Given the description of an element on the screen output the (x, y) to click on. 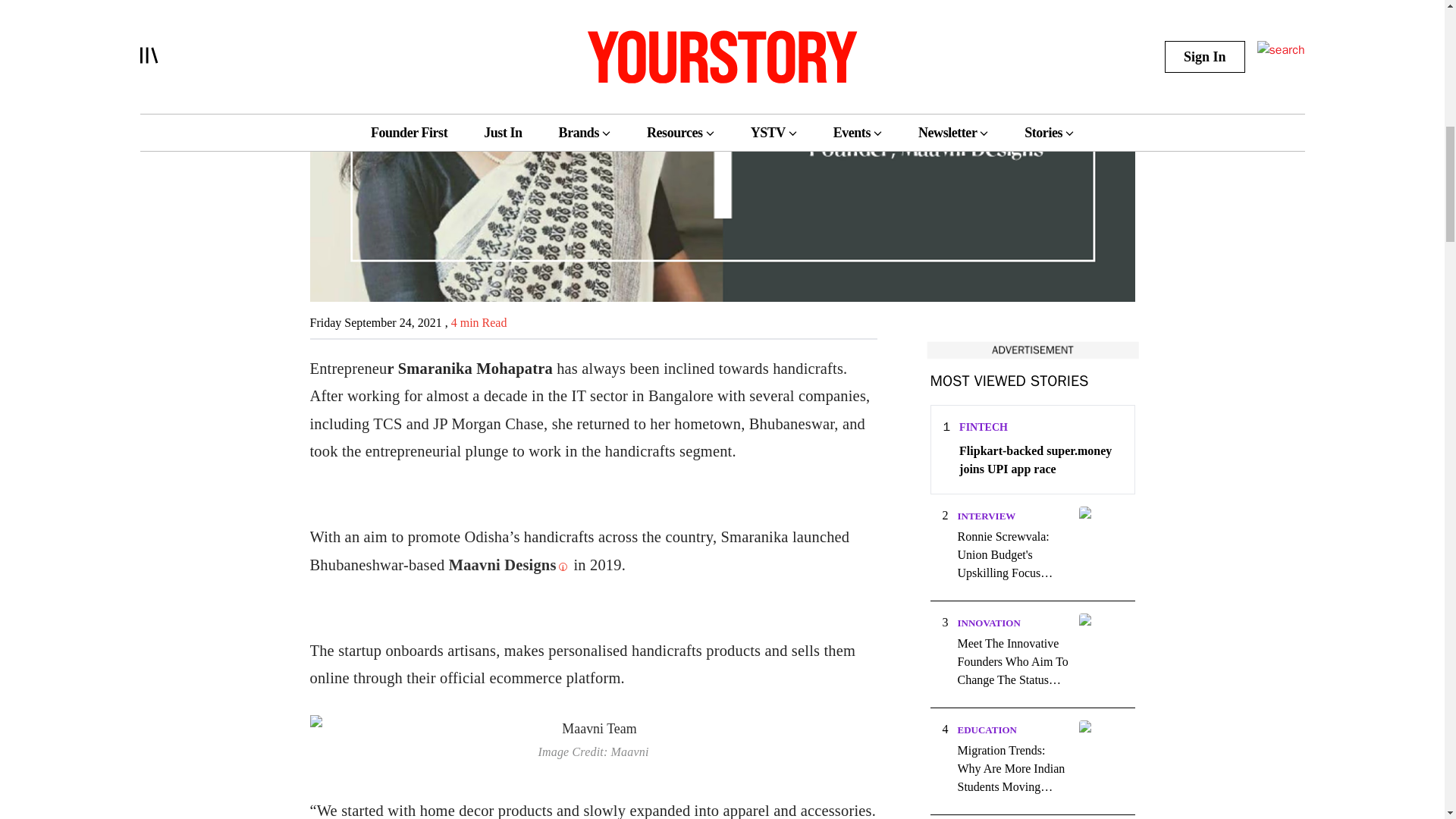
Migration Trends: Why Are More Indian Students Moving Abroad (1012, 769)
EDUCATION (986, 729)
INNOVATION (988, 622)
Flipkart-backed super.money joins UPI app race (1040, 460)
FINTECH (983, 427)
Advertise with us (1032, 349)
INTERVIEW (985, 515)
